Given the description of an element on the screen output the (x, y) to click on. 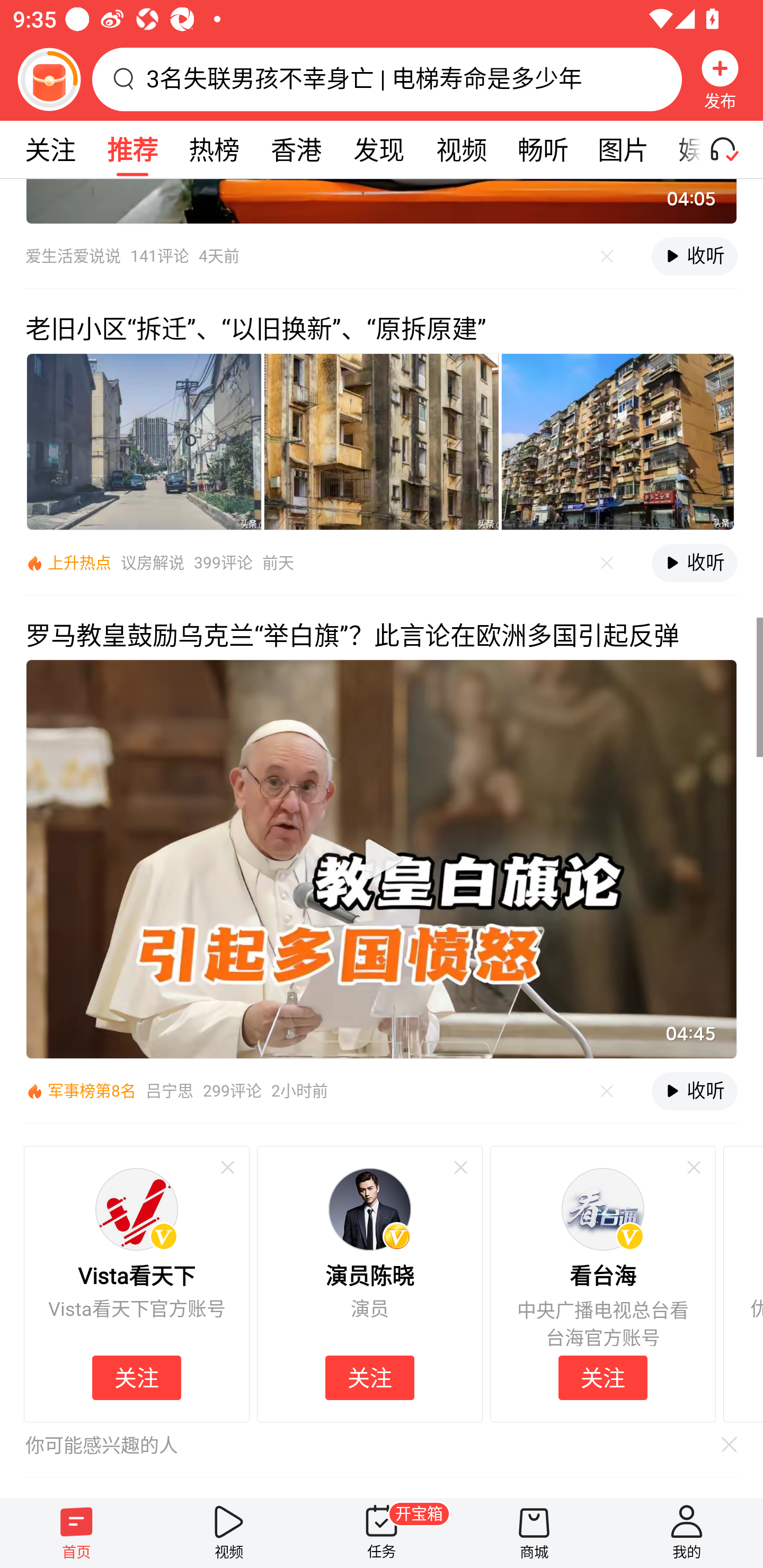
阅读赚金币 (48, 79)
3名失联男孩不幸身亡 | 电梯寿命是多少年 搜索框，3名失联男孩不幸身亡 | 电梯寿命是多少年 (387, 79)
发布 发布，按钮 (720, 78)
关注 (50, 149)
推荐 (132, 149)
热榜 (213, 149)
香港 (295, 149)
发现 (378, 149)
视频 (461, 149)
畅听 (542, 149)
图片 (623, 149)
听一听开关 (732, 149)
收听 (694, 255)
不感兴趣 (607, 256)
内容图片 (143, 441)
内容图片 (381, 441)
内容图片 (617, 441)
收听 (694, 562)
不感兴趣 (607, 562)
播放视频 视频播放器，双击屏幕打开播放控制 (381, 858)
播放视频 (381, 858)
收听 (694, 1091)
不感兴趣 (607, 1091)
Vista看天下头像 Vista看天下 Vista看天下官方账号 关注 关注 不感兴趣 (136, 1284)
不感兴趣 (227, 1168)
演员陈晓头像 演员陈晓 演员 关注 关注 不感兴趣 (369, 1284)
不感兴趣 (459, 1168)
看台海头像 看台海 中央广播电视总台看台海官方账号 关注 关注 不感兴趣 (602, 1284)
不感兴趣 (693, 1168)
关注 (136, 1378)
关注 (369, 1378)
关注 (602, 1378)
移除推荐 (724, 1443)
首页 (76, 1532)
视频 (228, 1532)
任务 开宝箱 (381, 1532)
商城 (533, 1532)
我的 (686, 1532)
